Given the description of an element on the screen output the (x, y) to click on. 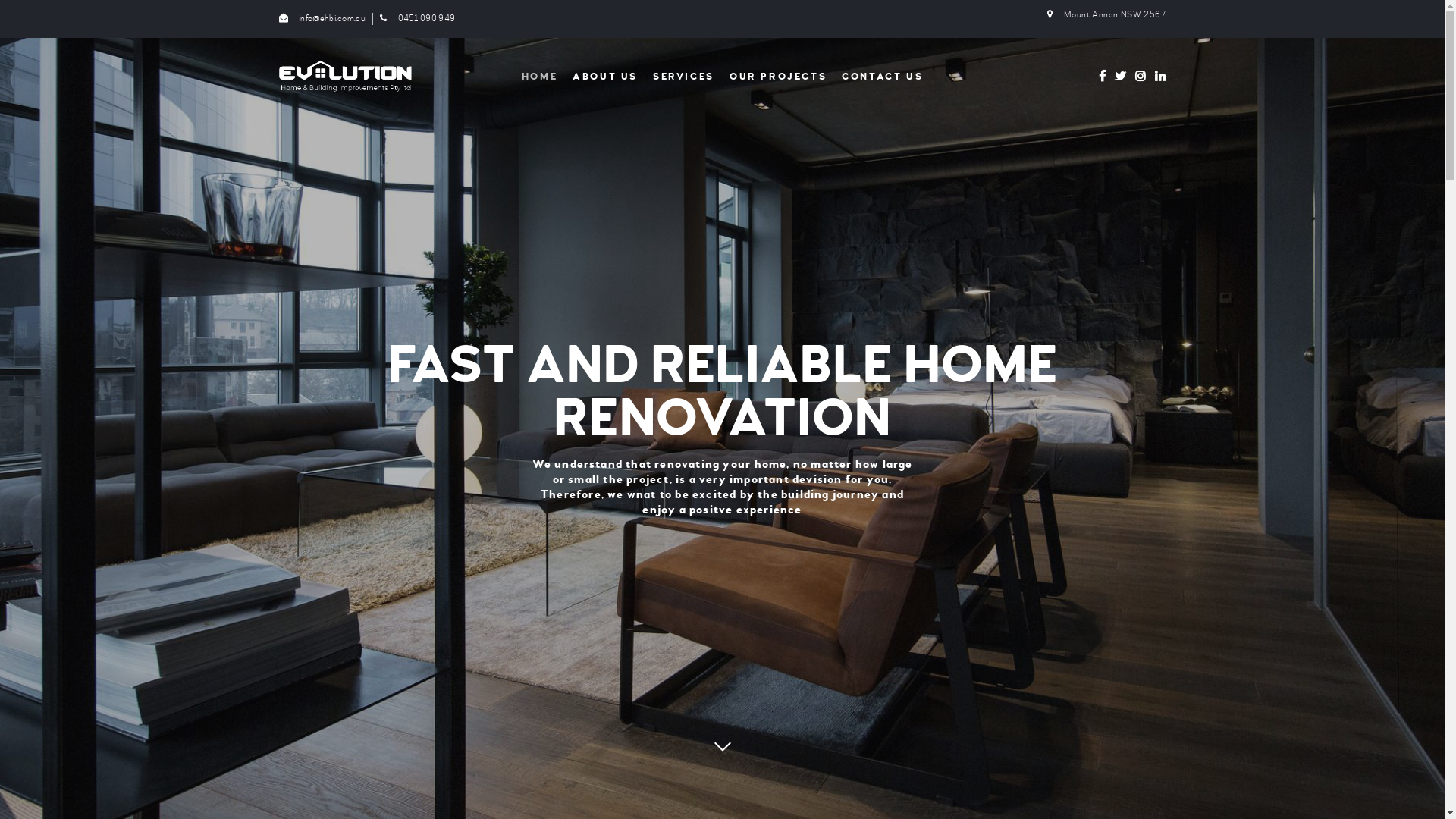
CONTACT US Element type: text (882, 76)
ABOUT US Element type: text (604, 76)
OUR PROJECTS Element type: text (777, 76)
info@ehbi.com.au Element type: text (322, 18)
HOME Element type: text (539, 76)
SERVICES Element type: text (683, 76)
0451 090 949 Element type: text (417, 18)
